Given the description of an element on the screen output the (x, y) to click on. 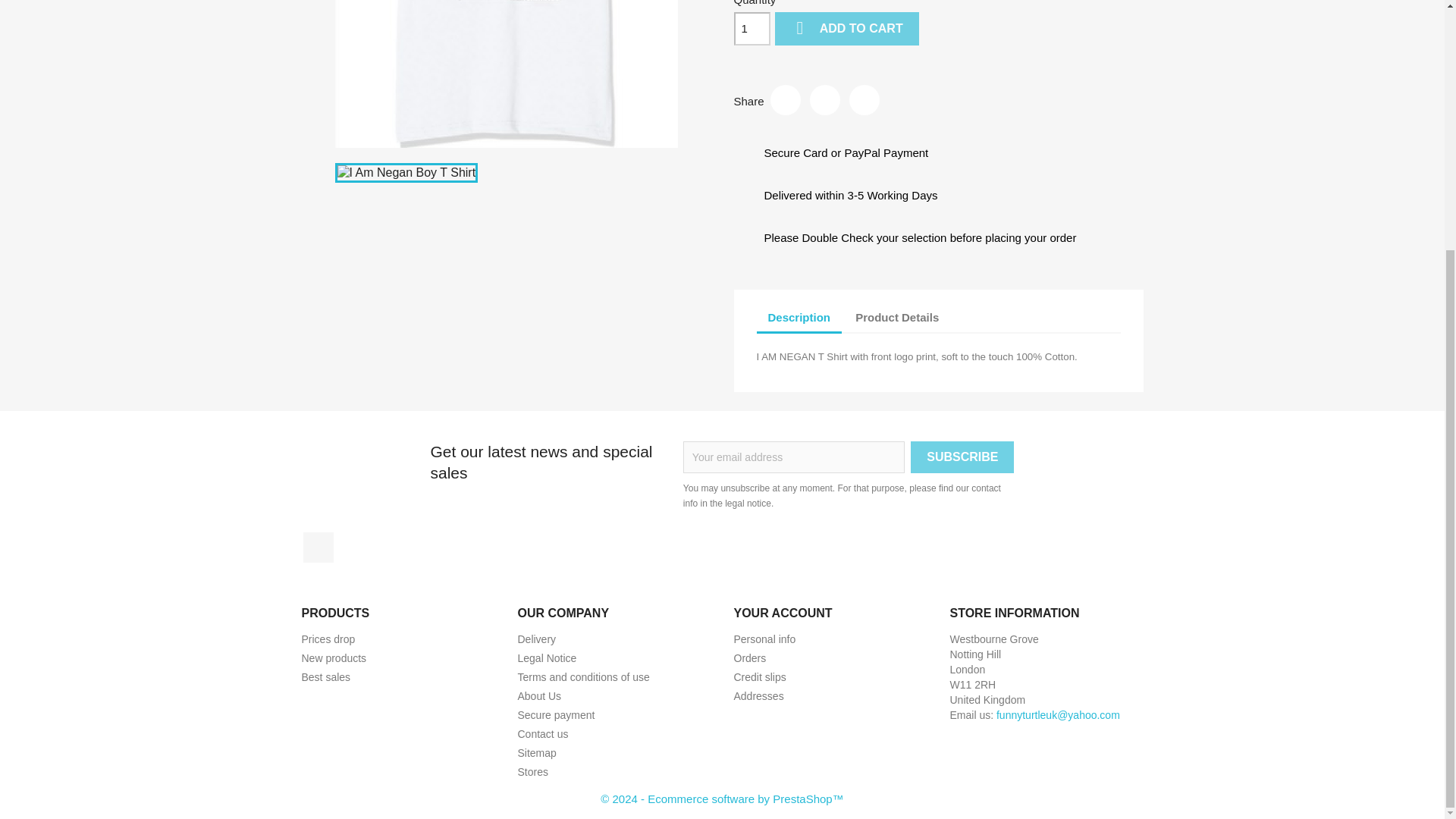
Instagram (317, 547)
Tweet (824, 100)
Description (800, 318)
Secure payment (555, 715)
Legal Notice (546, 657)
1 (751, 28)
Product Details (897, 317)
New products (333, 657)
Contact us (541, 734)
YOUR ACCOUNT (782, 612)
